Given the description of an element on the screen output the (x, y) to click on. 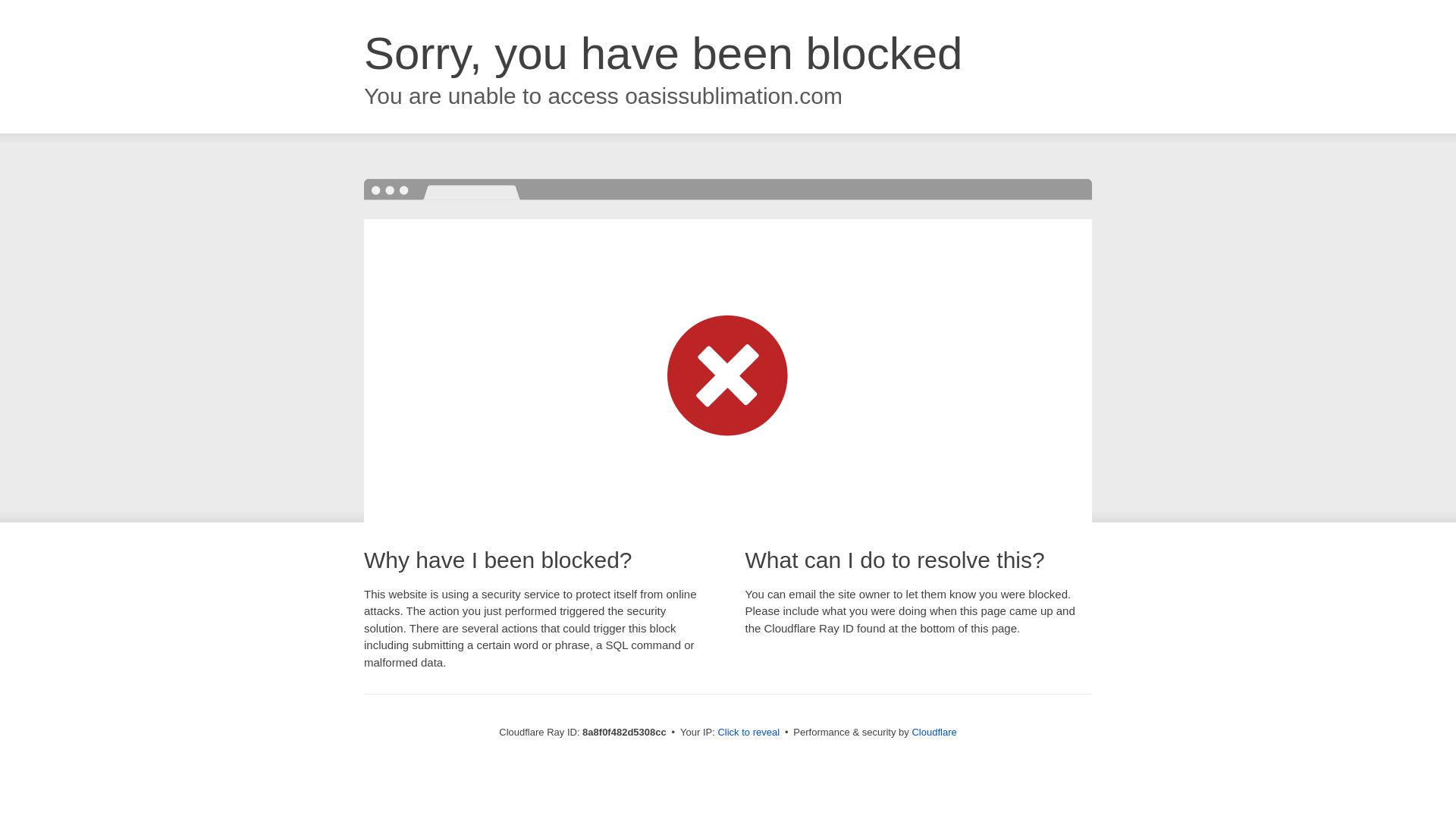
Cloudflare (933, 731)
Click to reveal (747, 732)
